Given the description of an element on the screen output the (x, y) to click on. 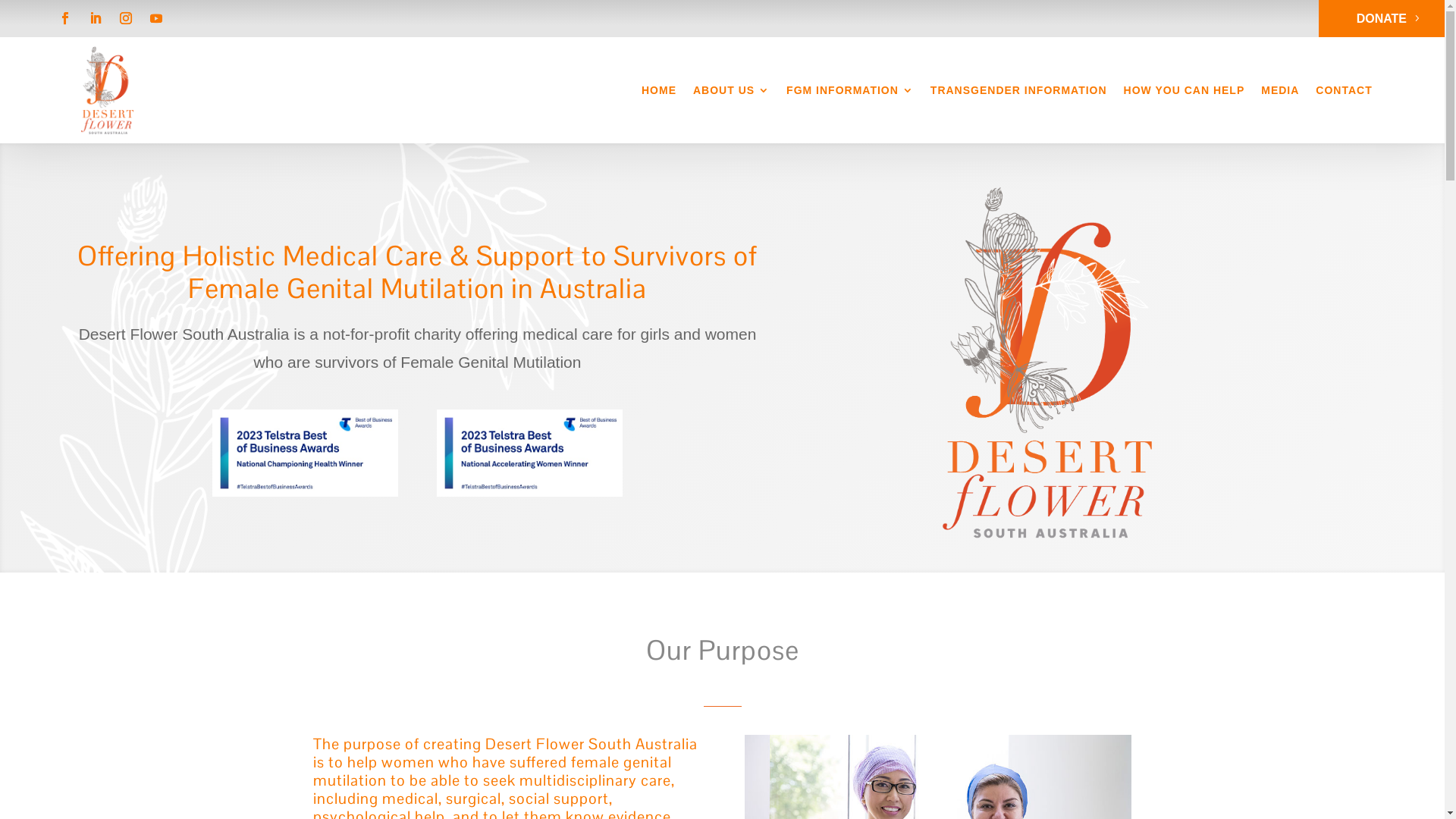
CONTACT Element type: text (1343, 90)
IMG_4812 Element type: hover (529, 492)
FGM INFORMATION Element type: text (849, 90)
Follow on Youtube Element type: hover (156, 18)
ABOUT US Element type: text (731, 90)
Follow on LinkedIn Element type: hover (95, 18)
Follow on Instagram Element type: hover (125, 18)
DONATE Element type: text (1381, 18)
HOW YOU CAN HELP Element type: text (1184, 90)
Follow on Facebook Element type: hover (65, 18)
TRANSGENDER INFORMATION Element type: text (1018, 90)
MEDIA Element type: text (1280, 90)
HOME Element type: text (658, 90)
Desert Flower Logo 2020 3 Element type: hover (1046, 368)
IMG_4808 Element type: hover (305, 492)
